Given the description of an element on the screen output the (x, y) to click on. 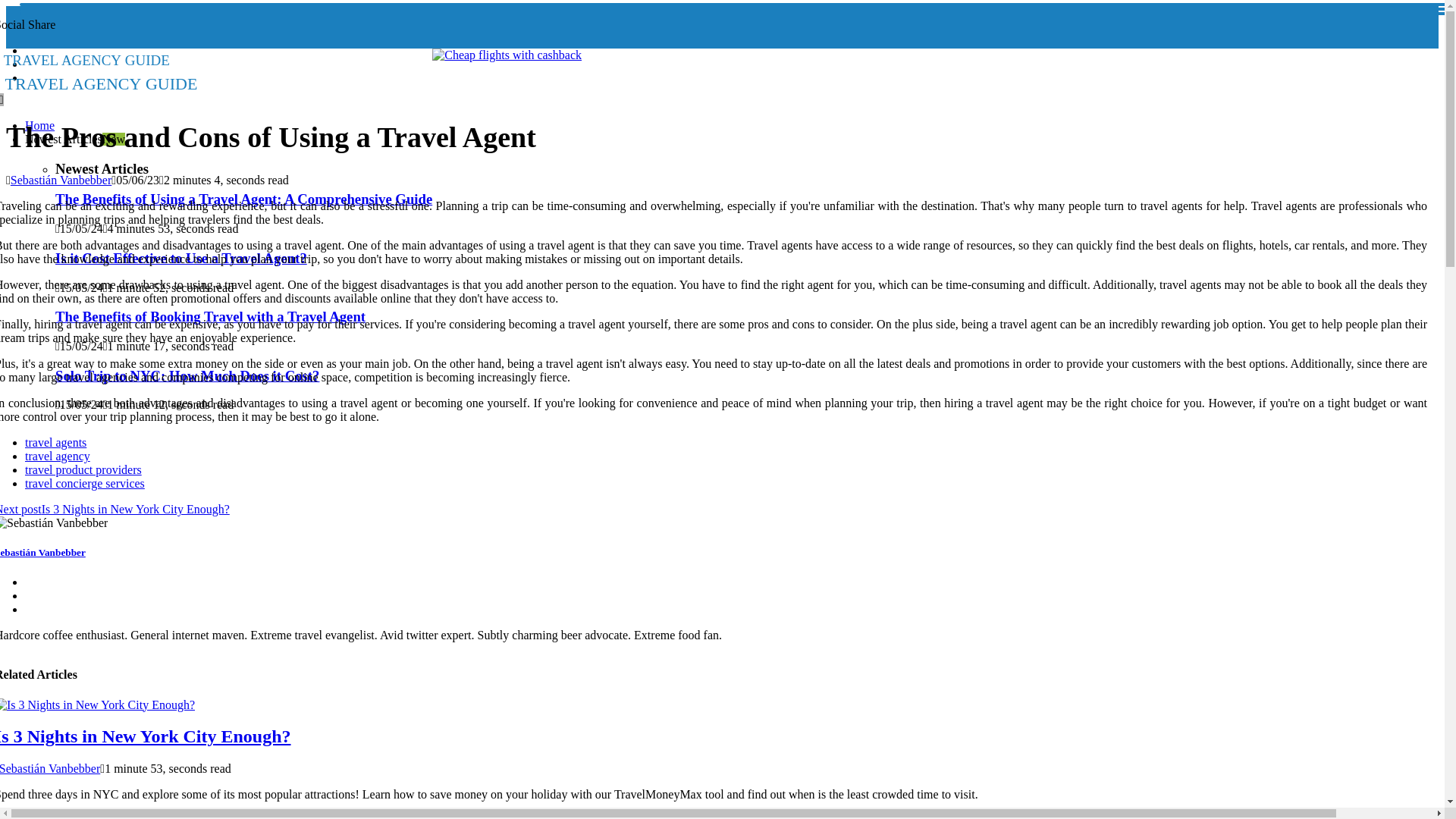
Next postIs 3 Nights in New York City Enough? (115, 508)
Newest ArticlesNew (74, 138)
travel product providers (82, 469)
travel agency (57, 455)
The Benefits of Using a Travel Agent: A Comprehensive Guide (243, 198)
Home (39, 124)
Solo Trip to NYC: How Much Does it Cost? (186, 375)
travel agents (216, 70)
travel concierge services (54, 441)
